Given the description of an element on the screen output the (x, y) to click on. 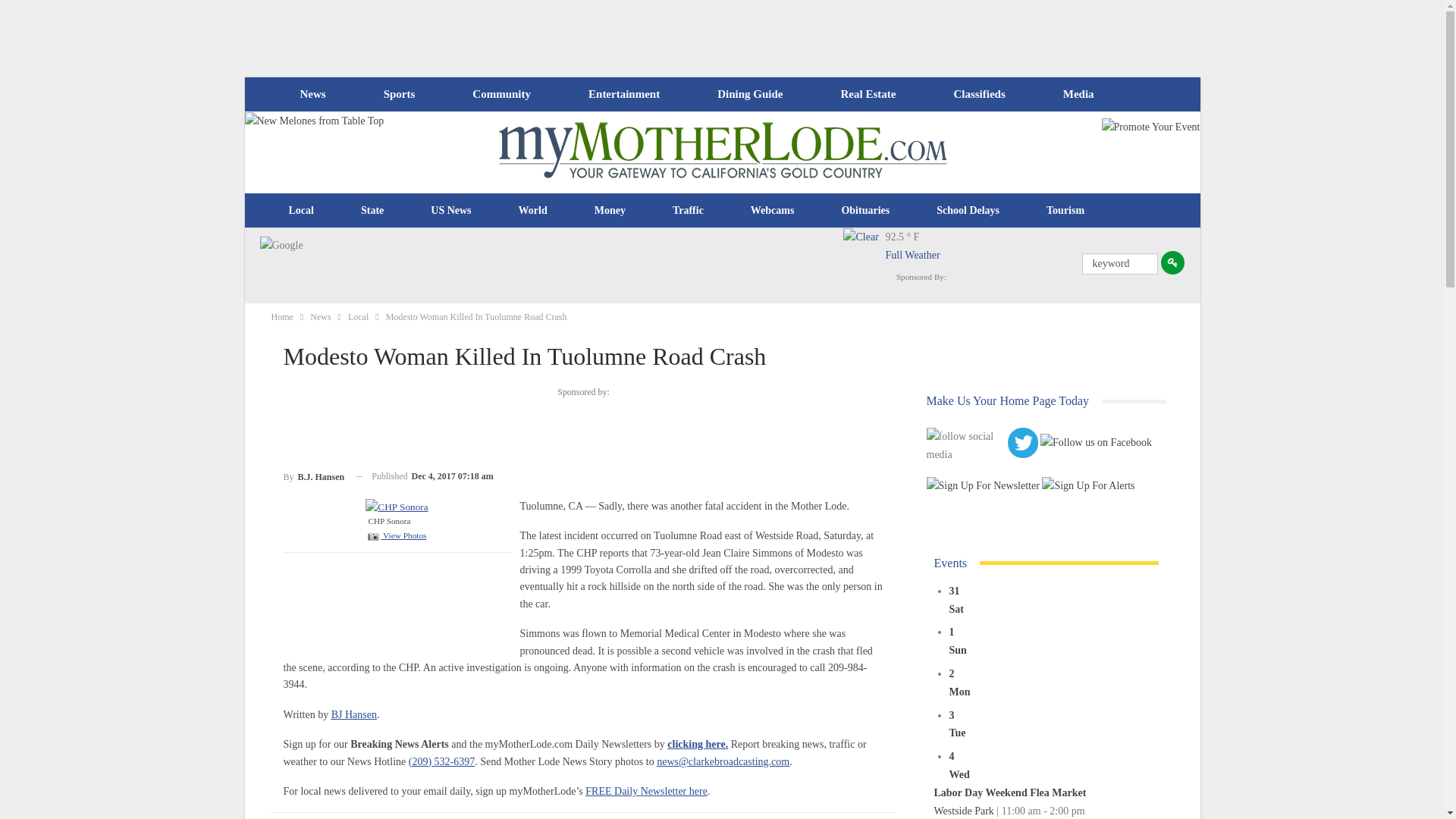
Dining Guide (749, 93)
School Delays (967, 210)
State (372, 210)
US News (451, 210)
Browse Author Articles (314, 476)
Real Estate (868, 93)
Media (1078, 93)
Money (609, 210)
World (532, 210)
Tourism (1065, 210)
